Given the description of an element on the screen output the (x, y) to click on. 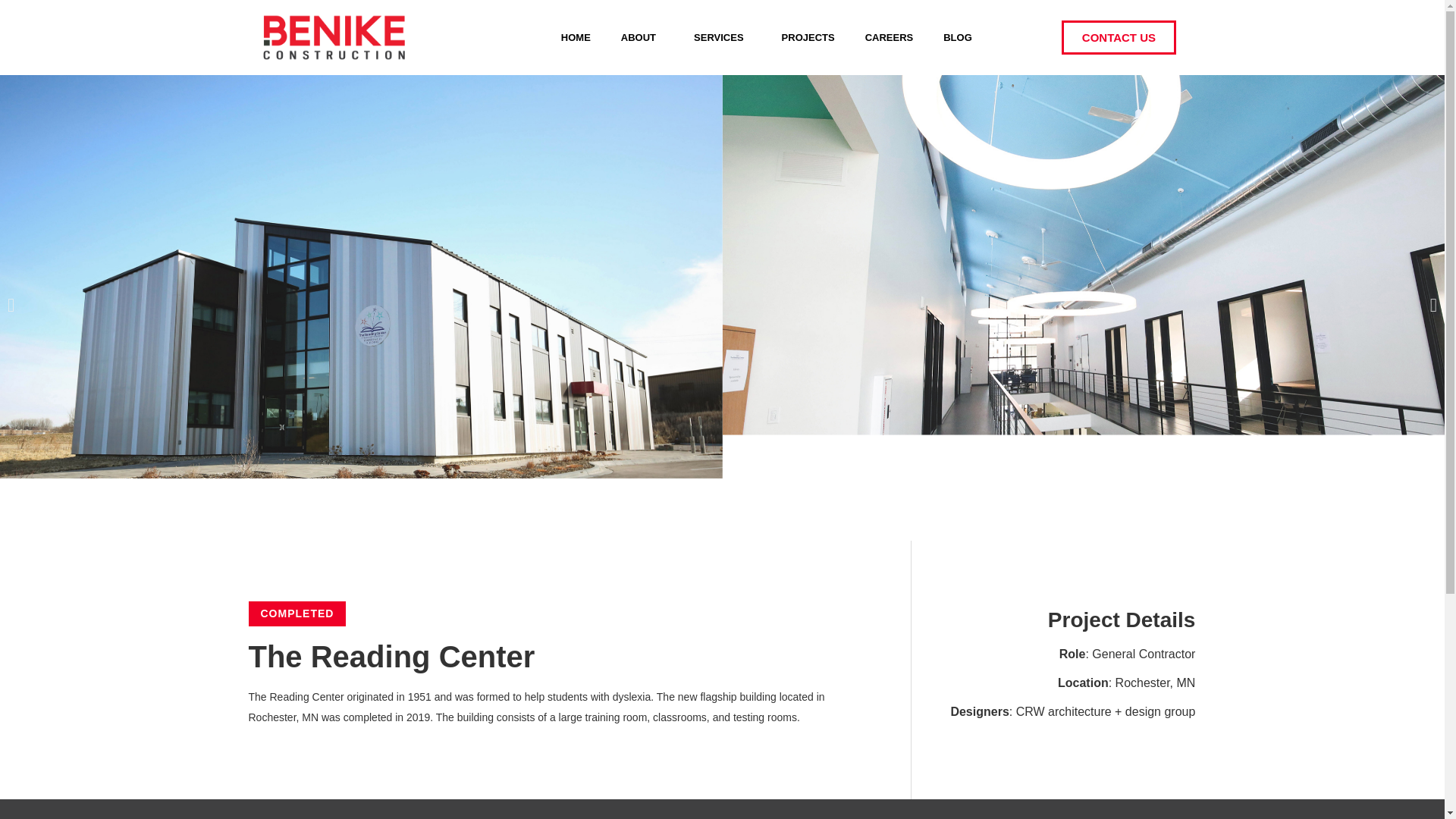
CONTACT US (1118, 37)
HOME (575, 36)
CAREERS (889, 36)
BACK TO PROJECTS (722, 39)
PROJECTS (808, 36)
ABOUT (641, 36)
BLOG (957, 36)
SERVICES (722, 36)
